Given the description of an element on the screen output the (x, y) to click on. 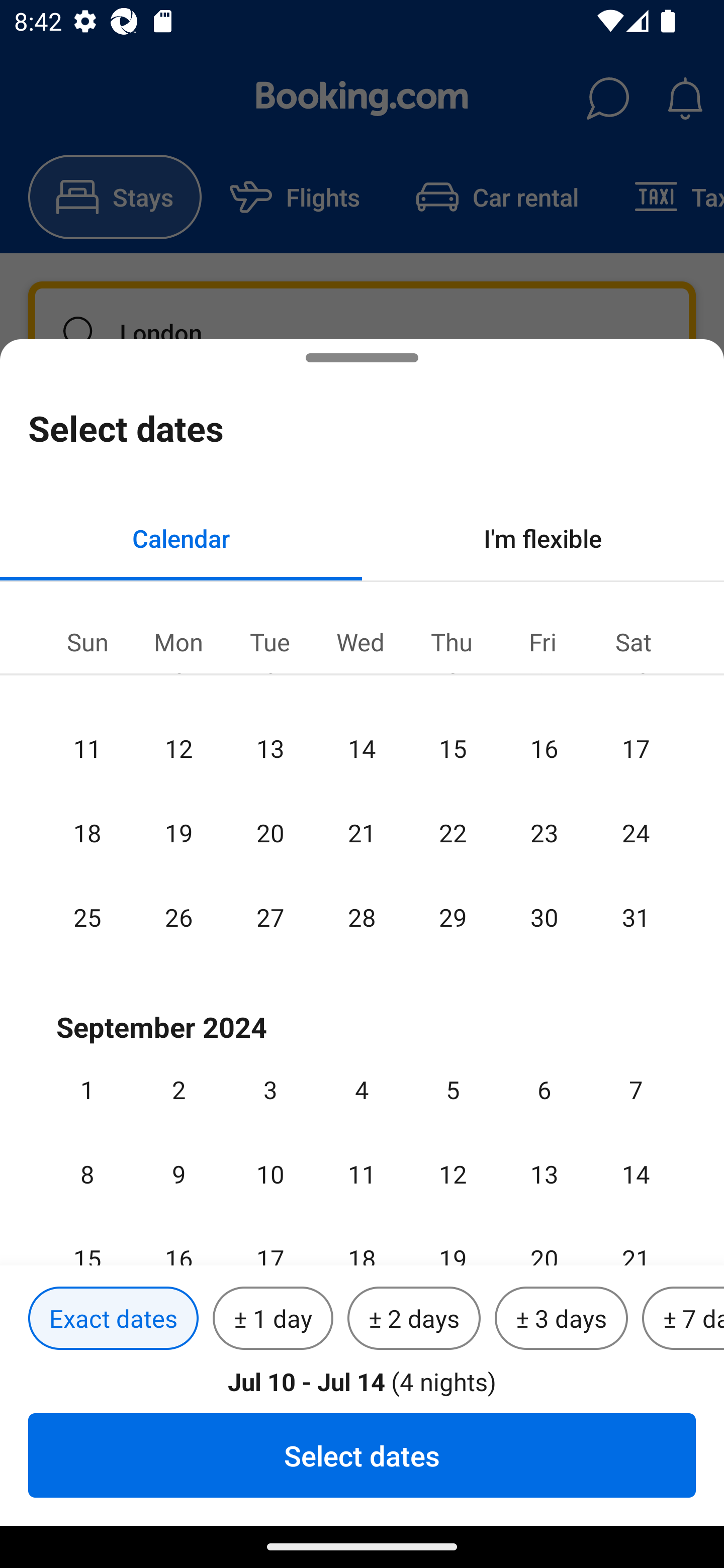
I'm flexible (543, 537)
Exact dates (113, 1318)
± 1 day (272, 1318)
± 2 days (413, 1318)
± 3 days (560, 1318)
± 7 days (683, 1318)
Select dates (361, 1454)
